Given the description of an element on the screen output the (x, y) to click on. 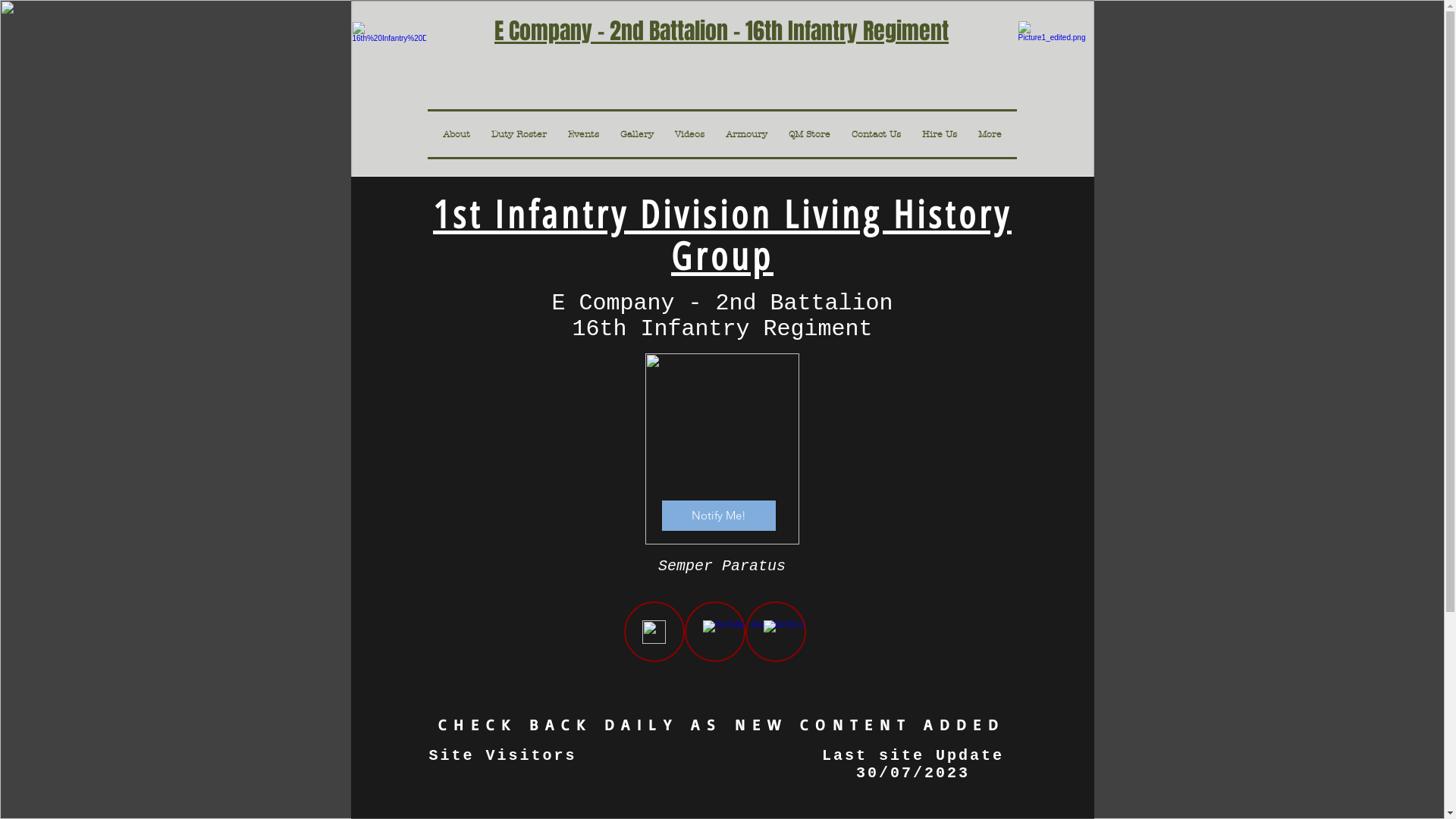
1st Infantry Division Living History Group Element type: text (722, 235)
Videos Element type: text (718, 133)
Gallery Element type: text (667, 133)
Events Element type: text (615, 133)
Hire Us Element type: text (961, 133)
E Company - 2nd Battalion - 16th Infantry Regiment Element type: text (721, 34)
QM Store Element type: text (834, 133)
Notify Me! Element type: text (718, 515)
Duty Roster Element type: text (552, 133)
Armoury Element type: text (772, 133)
Picture1.jpg Element type: hover (1052, 66)
16th%20Infantry%20DUI_edited.png Element type: hover (721, 448)
About Element type: text (494, 133)
Contact Us Element type: text (899, 133)
